Given the description of an element on the screen output the (x, y) to click on. 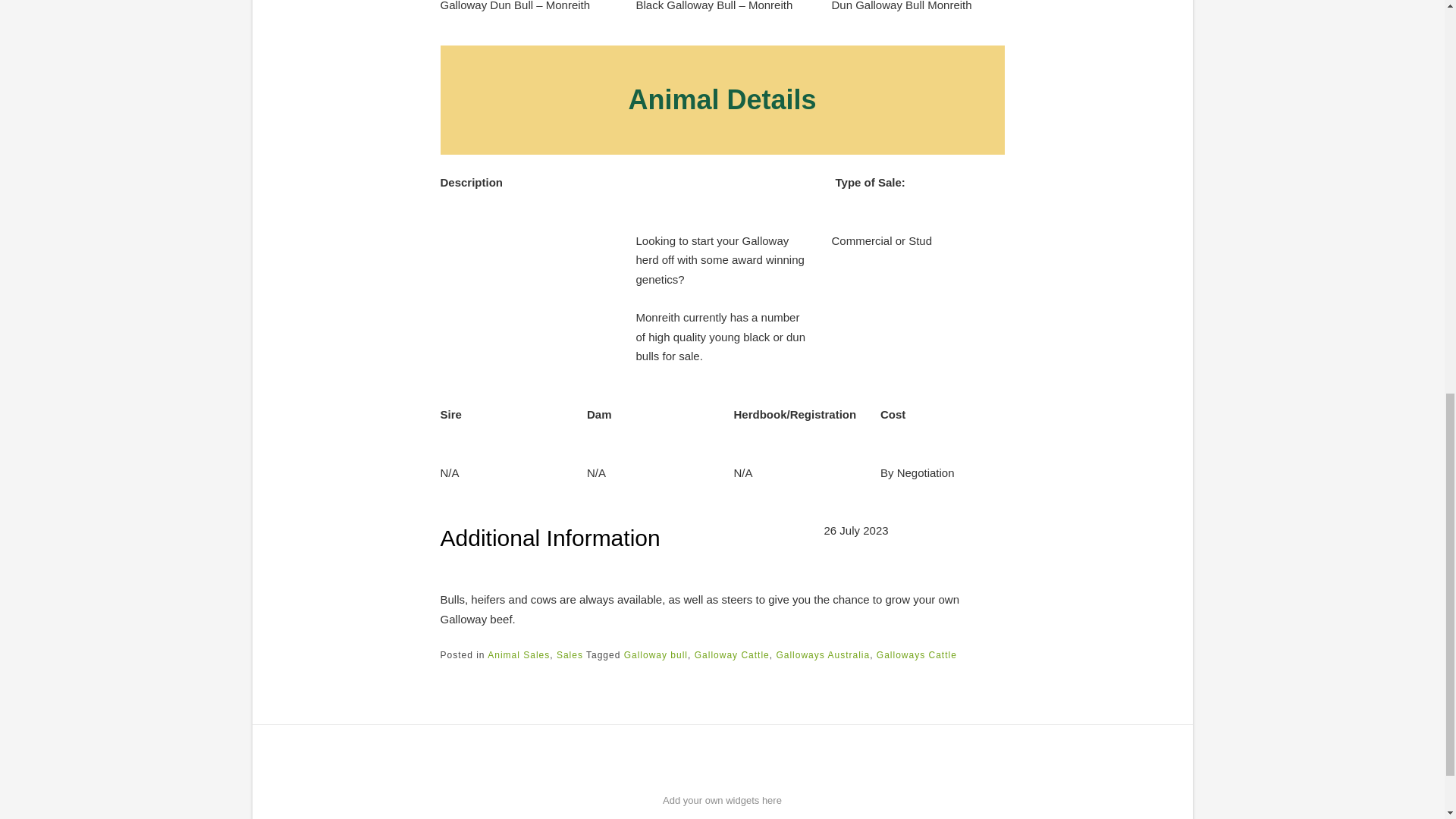
Galloways Australia (822, 655)
Galloways Cattle (916, 655)
Galloway bull (655, 655)
Sales (569, 655)
Galloway Cattle (732, 655)
Animal Sales (518, 655)
